Given the description of an element on the screen output the (x, y) to click on. 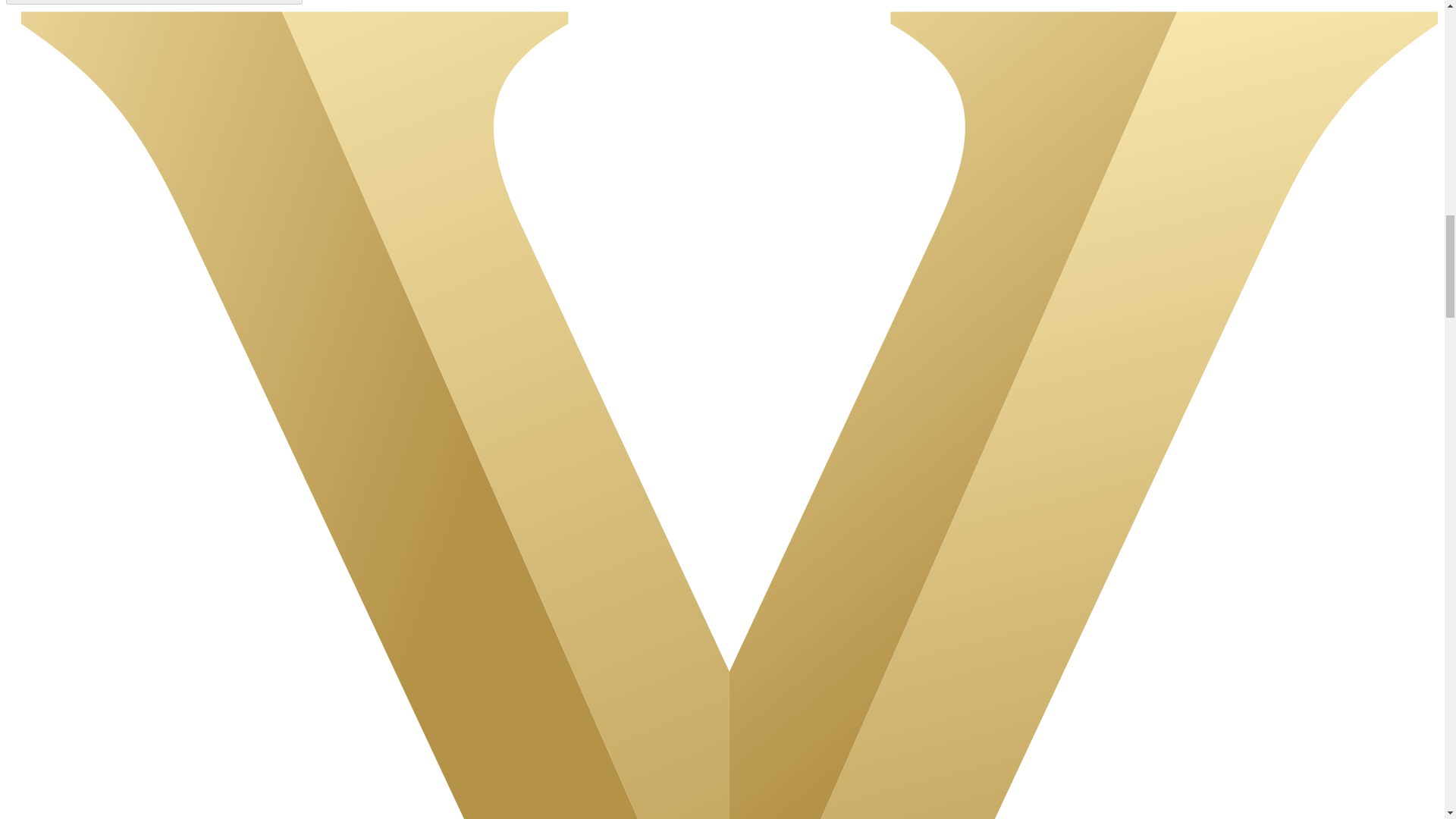
Close Menu (153, 2)
